Given the description of an element on the screen output the (x, y) to click on. 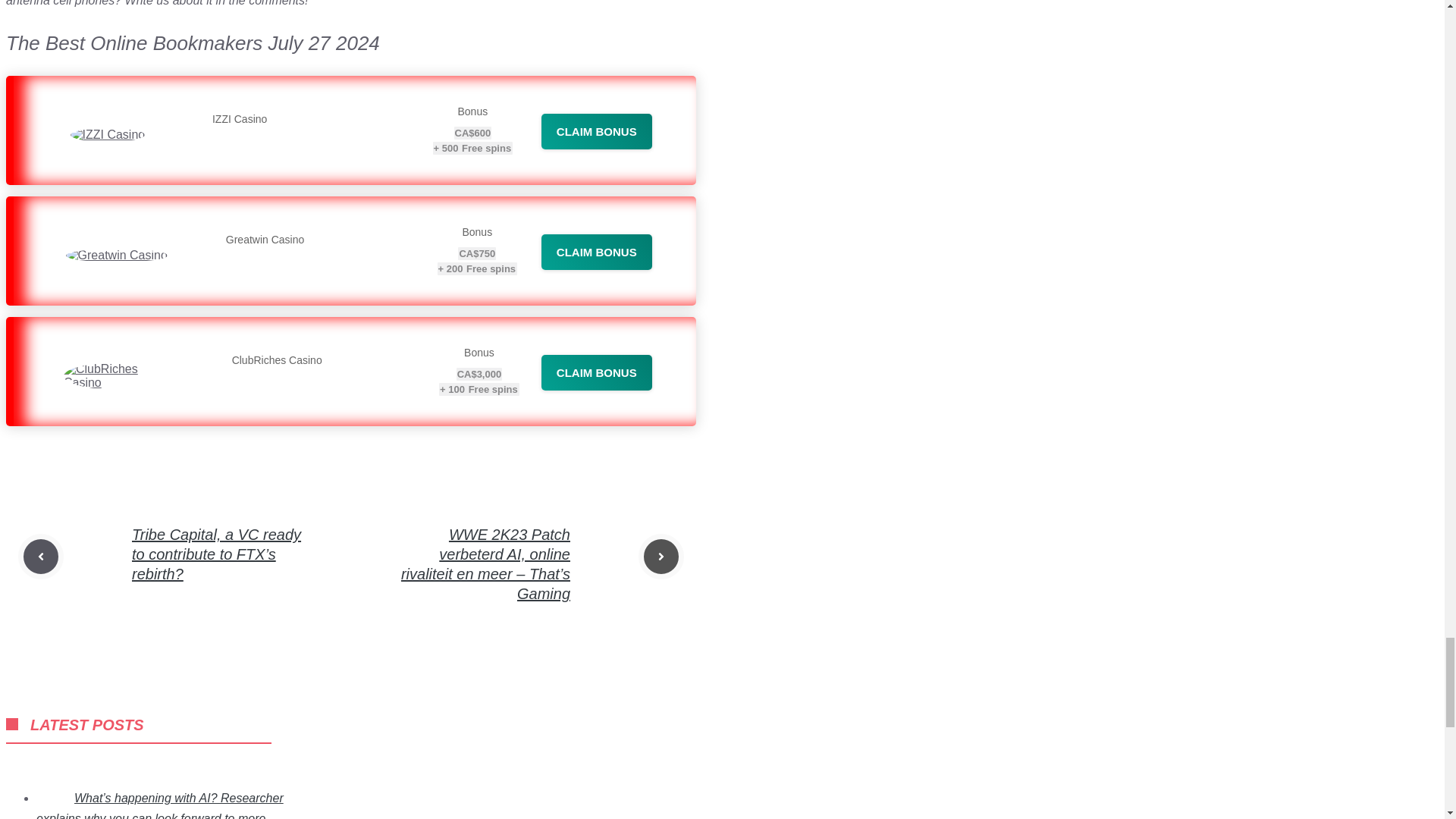
SORRY, YOUR BROWSER DOES NOT SUPPORT INLINE SVG. (11, 724)
